Given the description of an element on the screen output the (x, y) to click on. 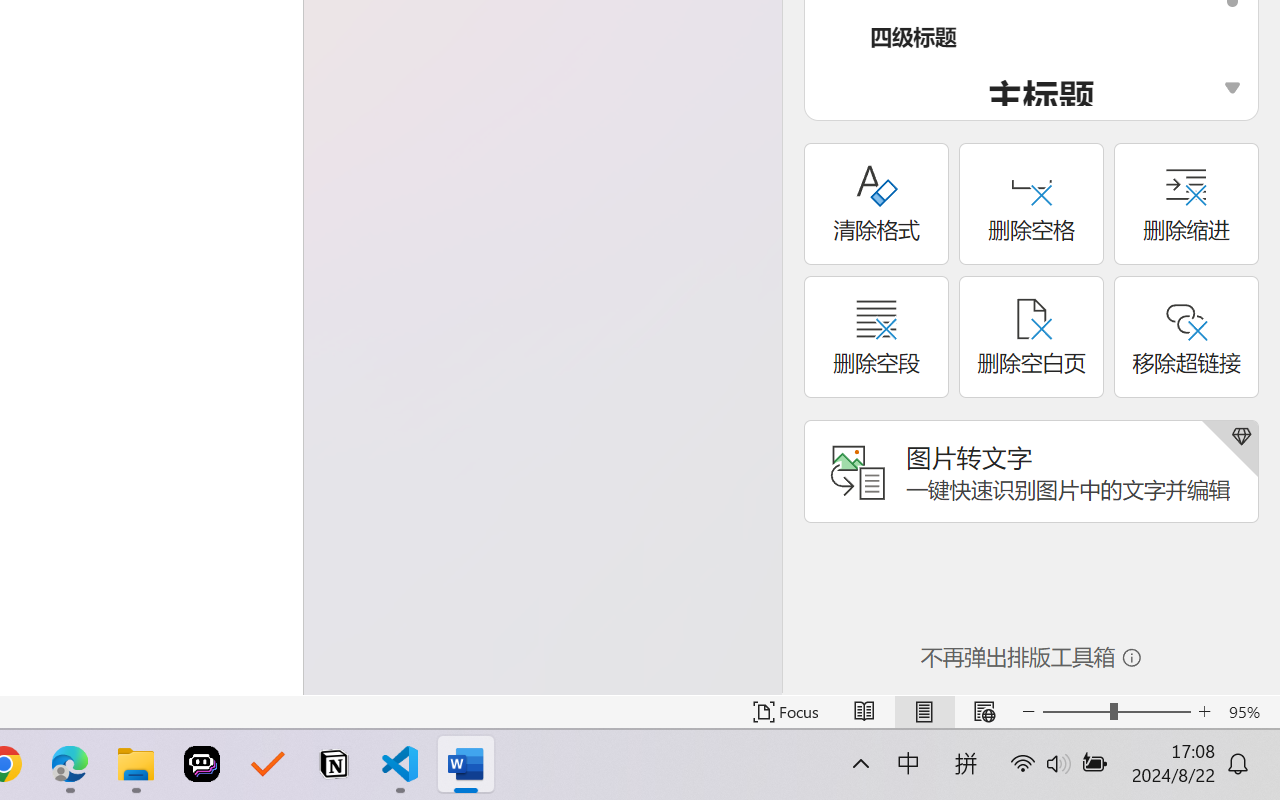
Insert Chart (164, 108)
Insert an Icon (127, 68)
Date (194, 224)
Cancel (49, 12)
Insert Table (127, 108)
Insert Cameo (55, 108)
Insert a SmartArt Graphic (164, 68)
